Given the description of an element on the screen output the (x, y) to click on. 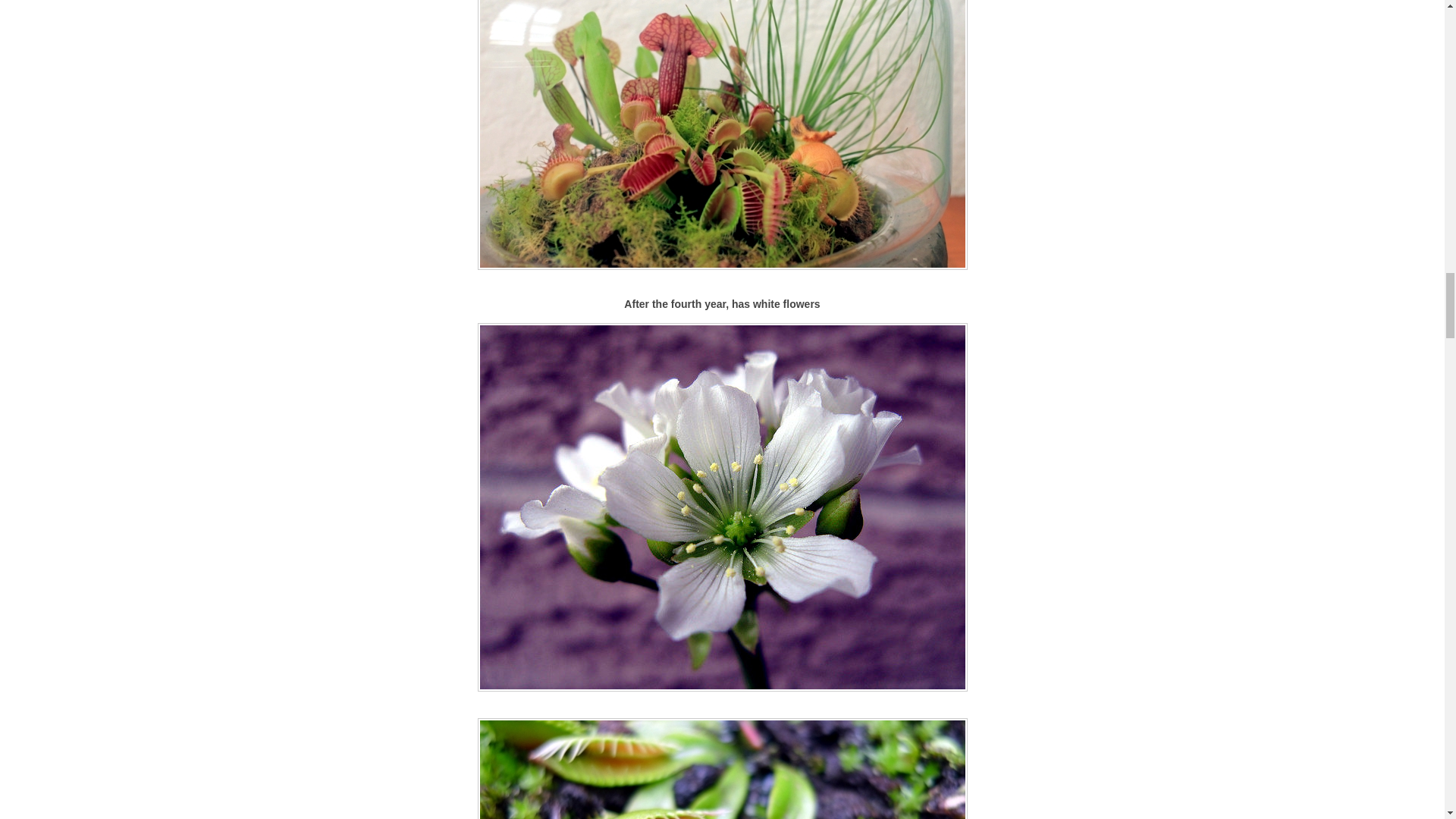
Care carnivorous plants - Venus Flytrap (722, 135)
Care carnivorous plants - Venus Flytrap (722, 768)
